Given the description of an element on the screen output the (x, y) to click on. 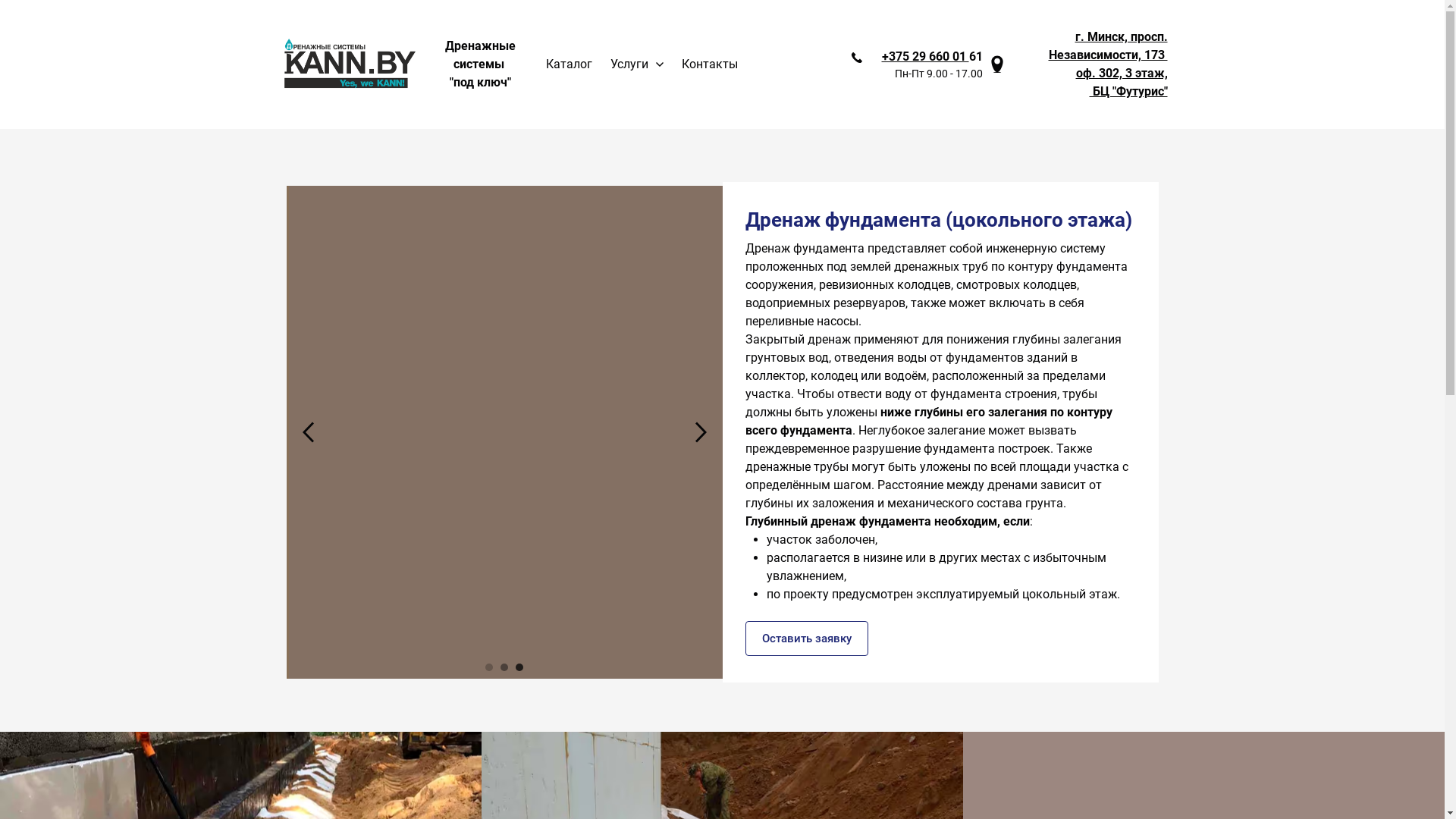
+375 29 660 01 Element type: text (924, 55)
